Given the description of an element on the screen output the (x, y) to click on. 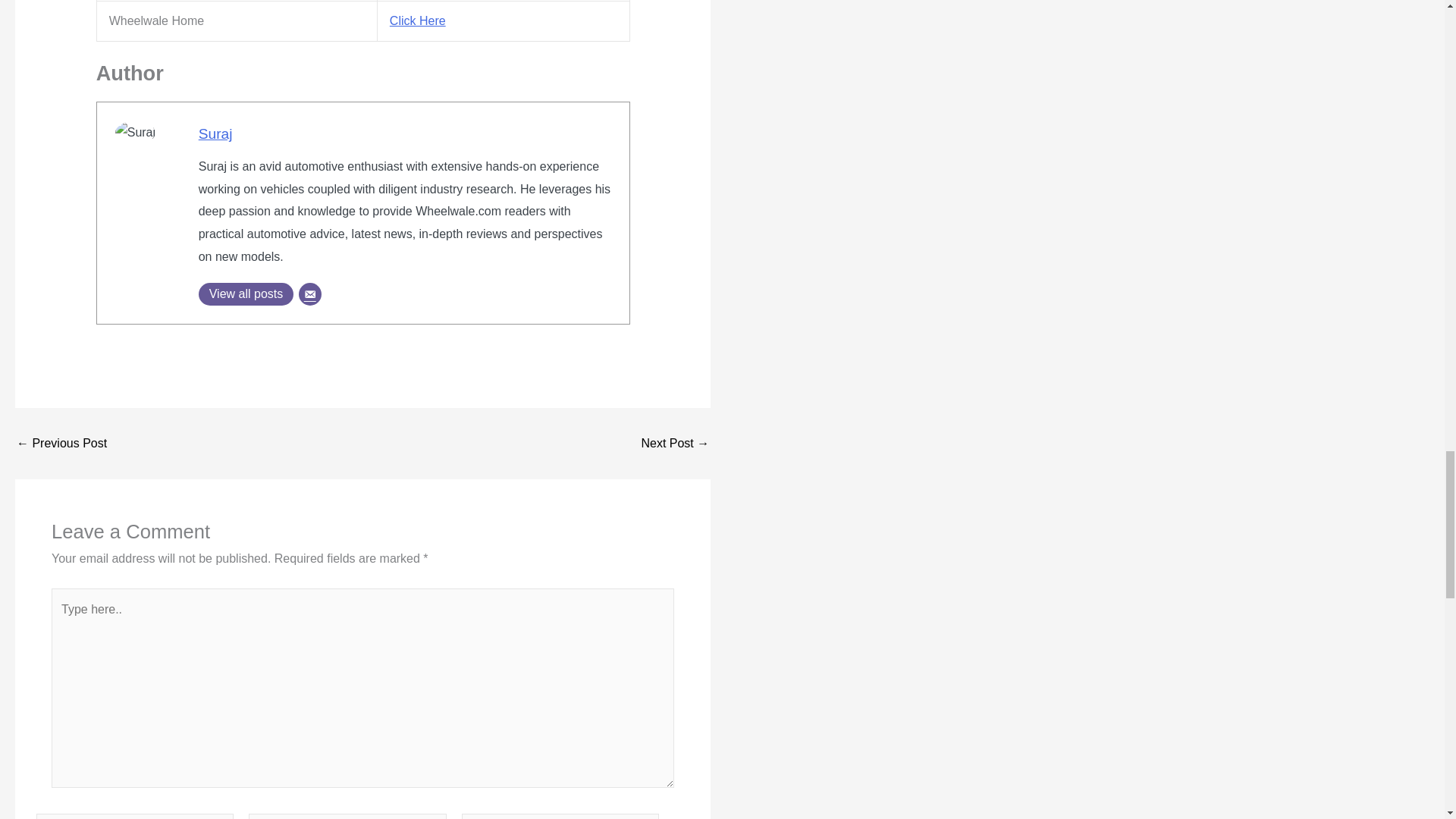
Suraj (215, 133)
Rare 1970 Plymouth AAR 'Cuda in Burnt Orange Up for Auction (61, 443)
View all posts (246, 293)
